Given the description of an element on the screen output the (x, y) to click on. 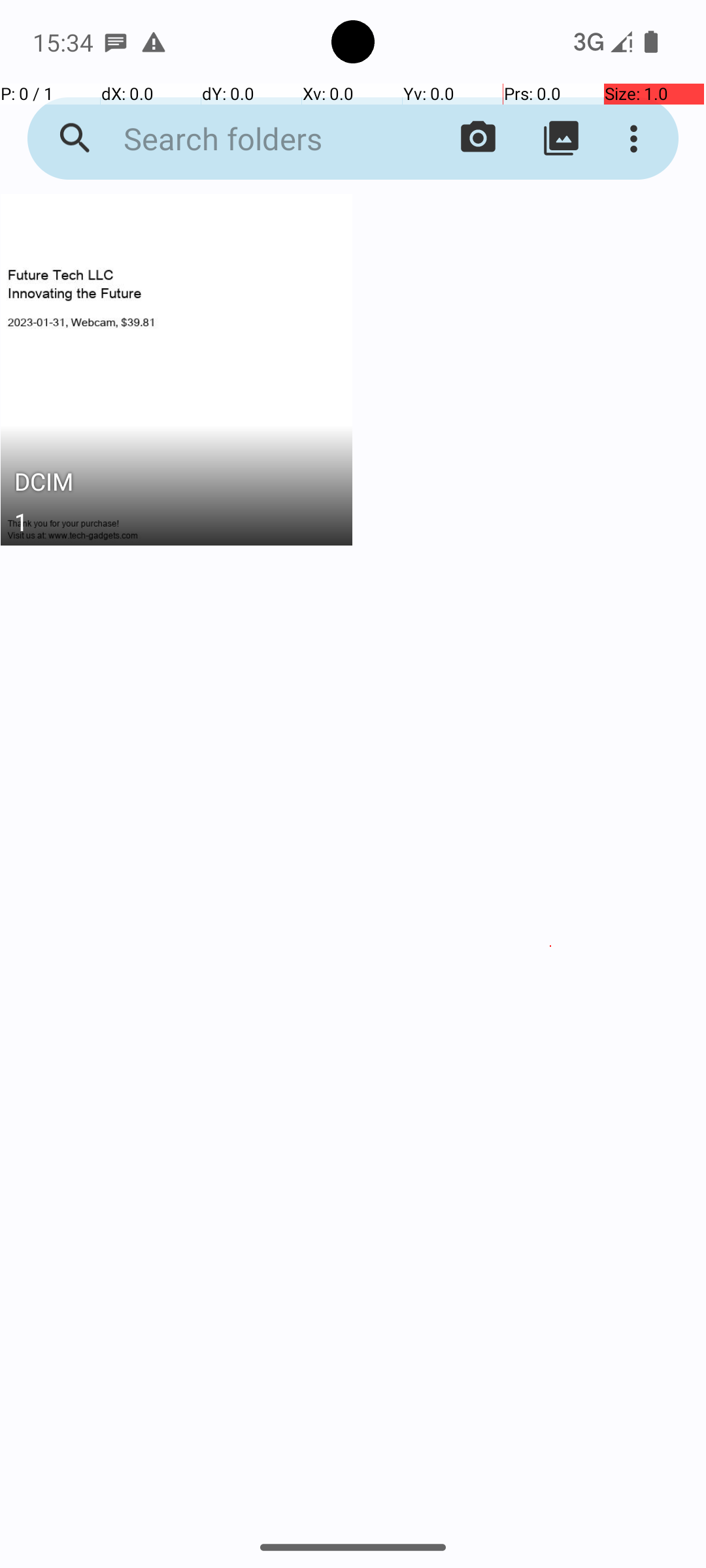
Search folders Element type: android.widget.EditText (252, 138)
Open camera Element type: android.widget.Button (477, 138)
Show all folders content Element type: android.widget.Button (560, 138)
DCIM Element type: android.widget.TextView (176, 484)
